Given the description of an element on the screen output the (x, y) to click on. 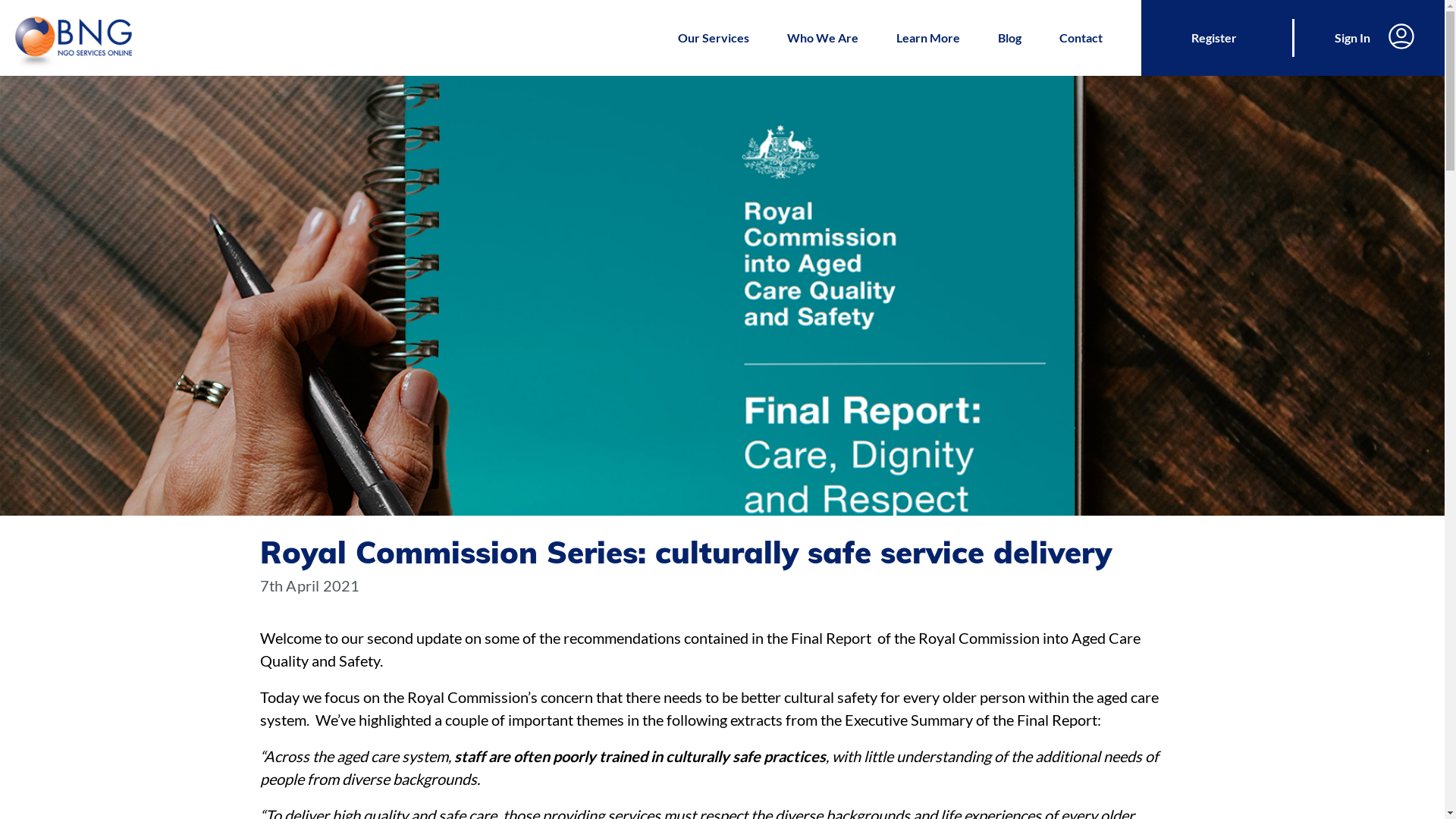
Executive Summary Element type: text (908, 719)
Contact Element type: text (1080, 37)
Blog Element type: text (1009, 37)
Register Element type: text (1216, 37)
Our Services Element type: text (713, 37)
Final Report Element type: text (830, 637)
Sign In Element type: text (1368, 37)
Learn More Element type: text (928, 37)
Who We Are Element type: text (822, 37)
